Given the description of an element on the screen output the (x, y) to click on. 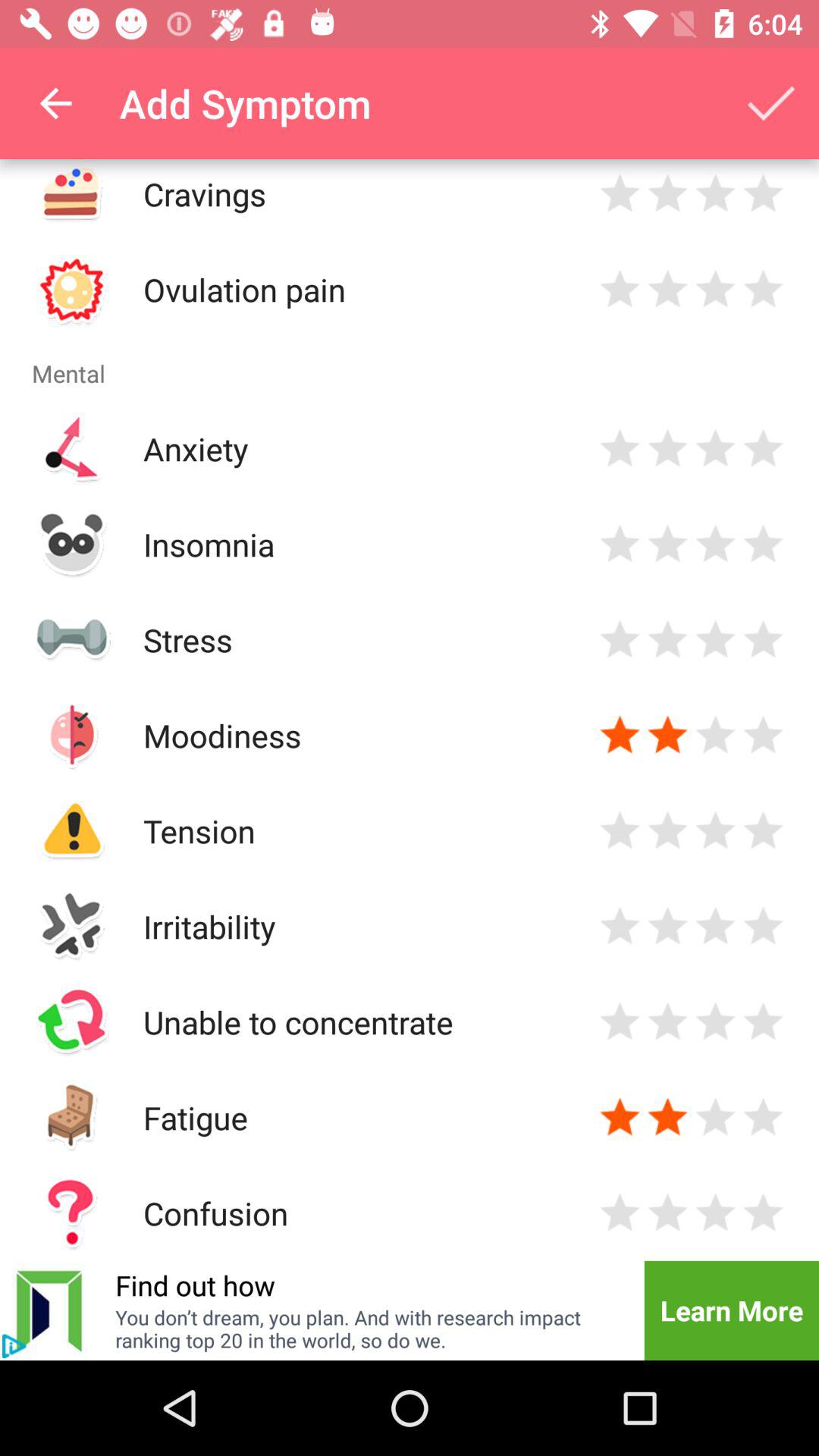
rate symptom 3 stars (715, 193)
